Given the description of an element on the screen output the (x, y) to click on. 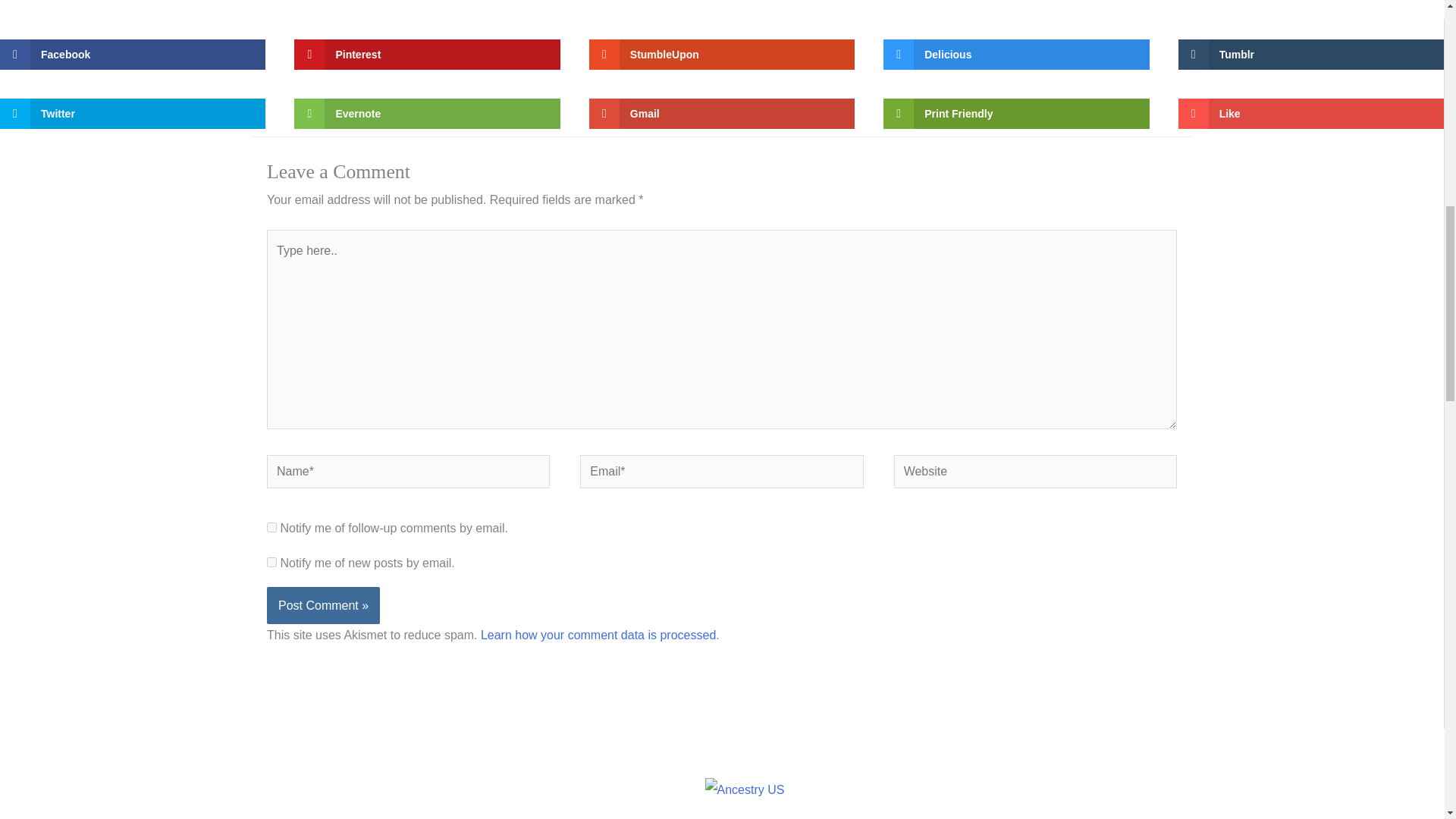
Learn how your comment data is processed (598, 634)
Gmail (721, 113)
Tumblr (1310, 54)
Like (1310, 113)
Delicious (1015, 54)
subscribe (271, 527)
Pinterest (426, 54)
Evernote (426, 113)
subscribe (271, 562)
Print Friendly (1015, 113)
StumbleUpon (721, 54)
Twitter (132, 113)
Facebook (132, 54)
